Given the description of an element on the screen output the (x, y) to click on. 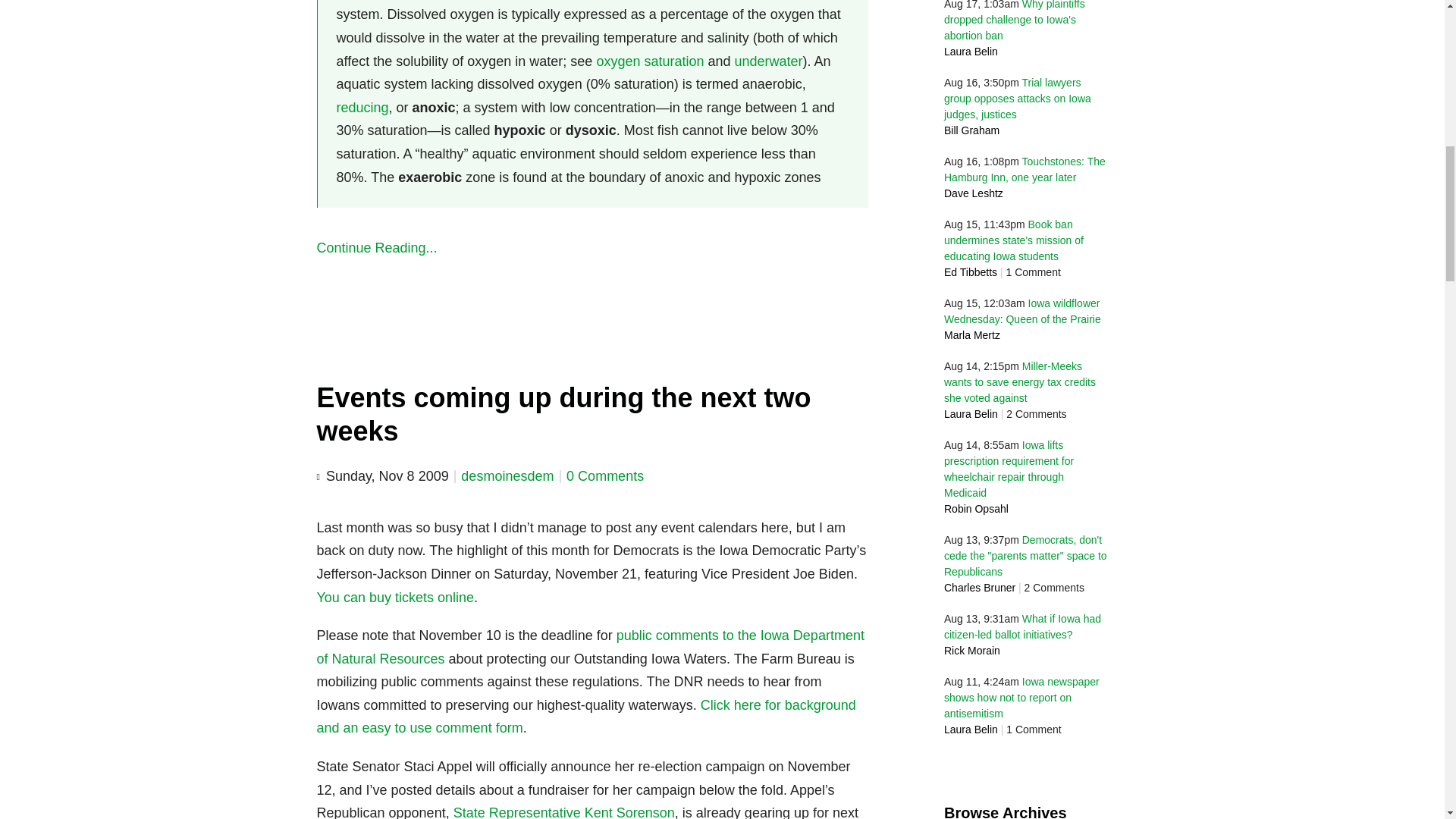
Continue Reading... (593, 248)
Click here for background and an easy to use comment form (586, 716)
Oxygen  saturation (649, 61)
underwater (769, 61)
Reducing environment (362, 107)
Events coming up during the next two weeks (563, 414)
desmoinesdem (507, 476)
0 Comments (604, 476)
comments (604, 476)
oxygen saturation (649, 61)
